Given the description of an element on the screen output the (x, y) to click on. 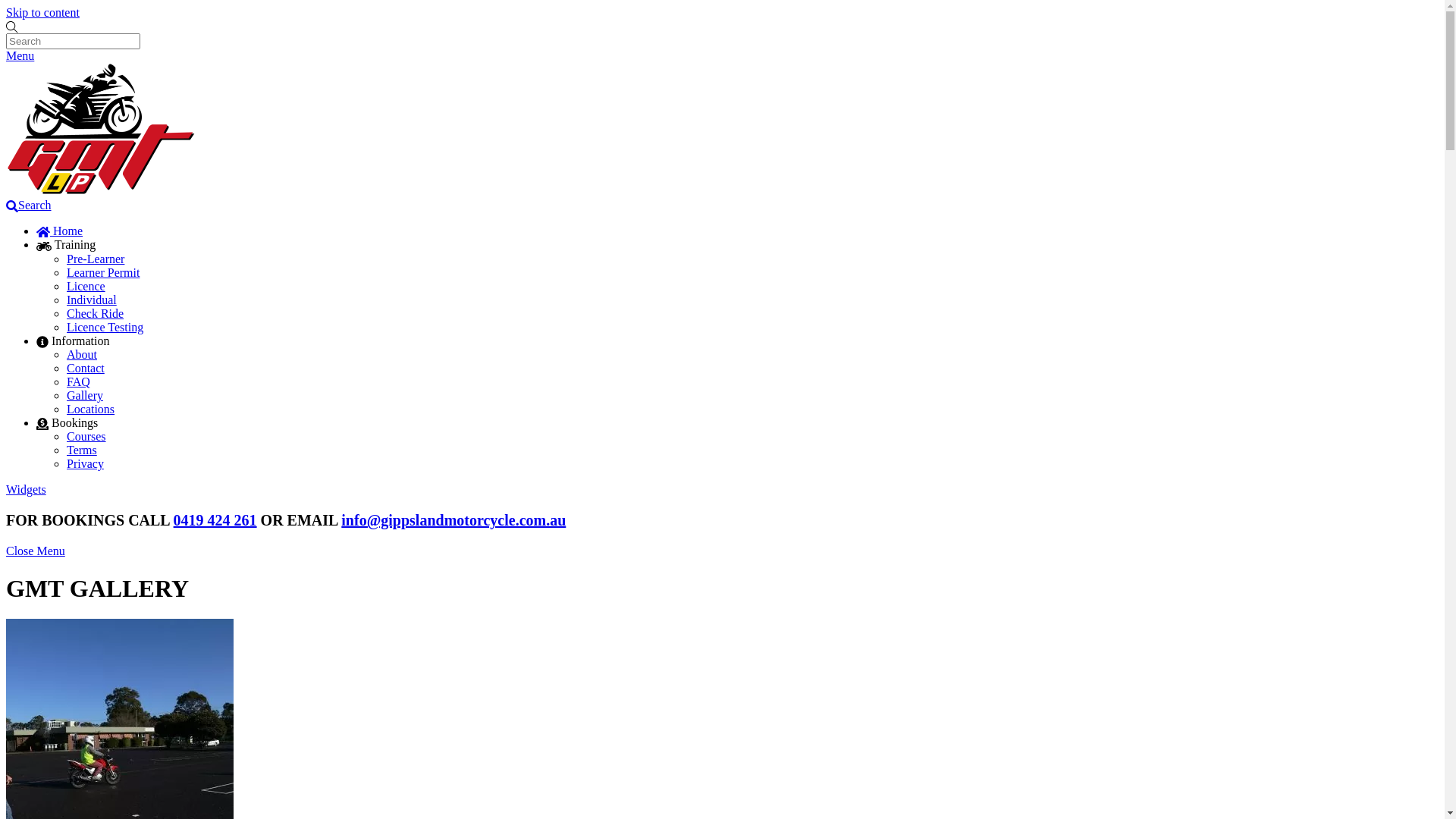
Gallery Element type: text (84, 395)
Gippsland Motorcycle Training Element type: hover (100, 191)
Pre-Learner Element type: text (95, 258)
Search Element type: hover (73, 41)
FAQ Element type: text (78, 381)
info@gippslandmotorcycle.com.au Element type: text (453, 519)
Check Ride Element type: text (94, 313)
Close Menu Element type: text (35, 550)
Bookings Element type: text (66, 422)
Licence Testing Element type: text (104, 326)
Search Element type: text (28, 204)
Licence Element type: text (85, 285)
Training Element type: text (65, 244)
Terms Element type: text (81, 449)
0419 424 261 Element type: text (215, 519)
Learner Permit Element type: text (102, 272)
Menu Element type: text (20, 55)
Information Element type: text (72, 340)
Courses Element type: text (86, 435)
Individual Element type: text (91, 299)
About Element type: text (81, 354)
Privacy Element type: text (84, 463)
Widgets Element type: text (26, 489)
Skip to content Element type: text (42, 12)
Contact Element type: text (85, 367)
Home Element type: text (59, 230)
GMT-Logo Element type: hover (100, 128)
Locations Element type: text (90, 408)
